Given the description of an element on the screen output the (x, y) to click on. 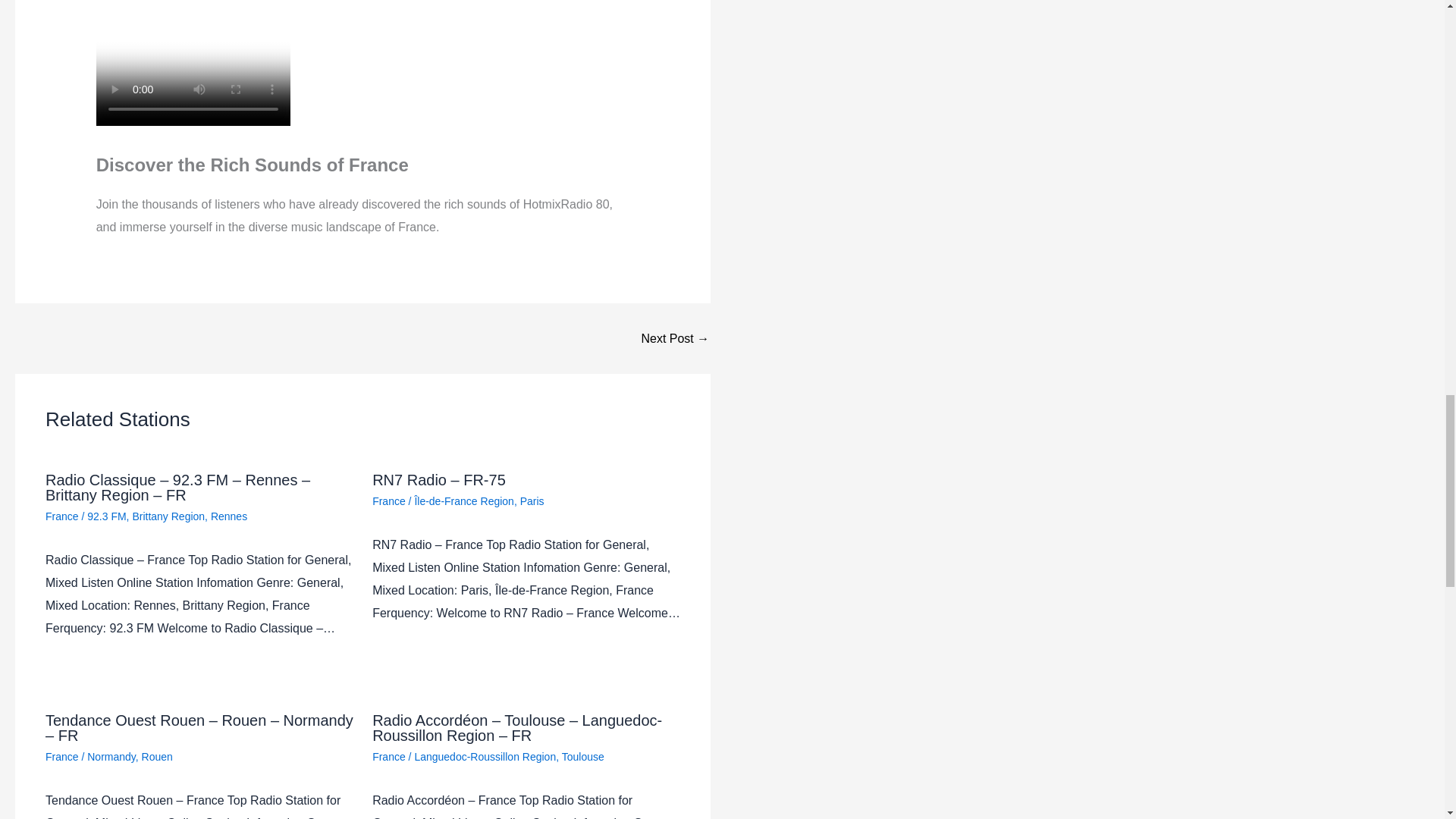
Toulouse (583, 756)
France (389, 500)
France (61, 756)
Paris (531, 500)
Rennes (229, 516)
Brittany Region (168, 516)
France (61, 516)
Languedoc-Roussillon Region (484, 756)
92.3 FM (106, 516)
Rouen (157, 756)
Normandy (111, 756)
France (389, 756)
